Given the description of an element on the screen output the (x, y) to click on. 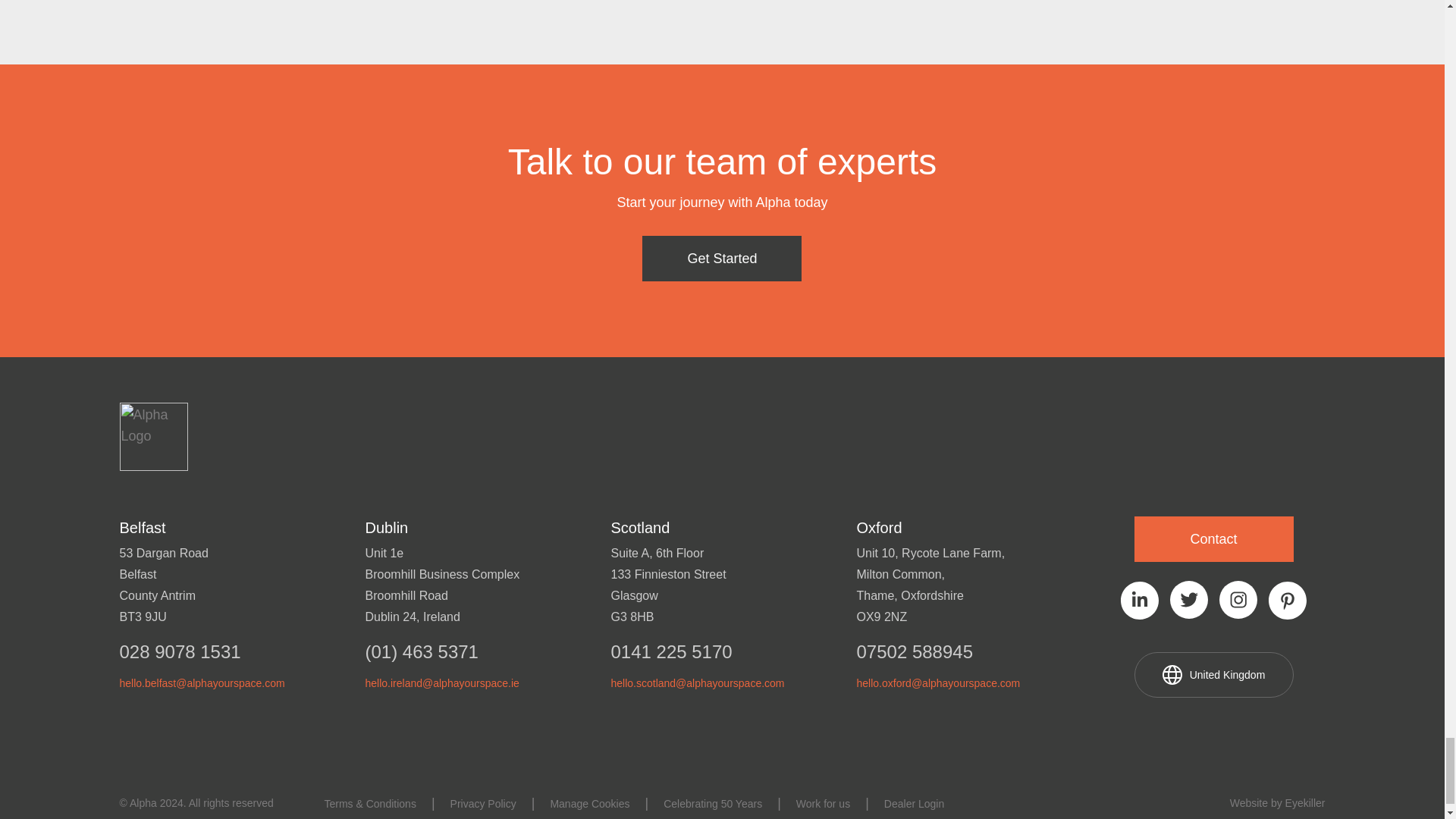
07502 588945 (968, 650)
0141 225 5170 (722, 650)
Get Started (722, 258)
028 9078 1531 (230, 650)
